Given the description of an element on the screen output the (x, y) to click on. 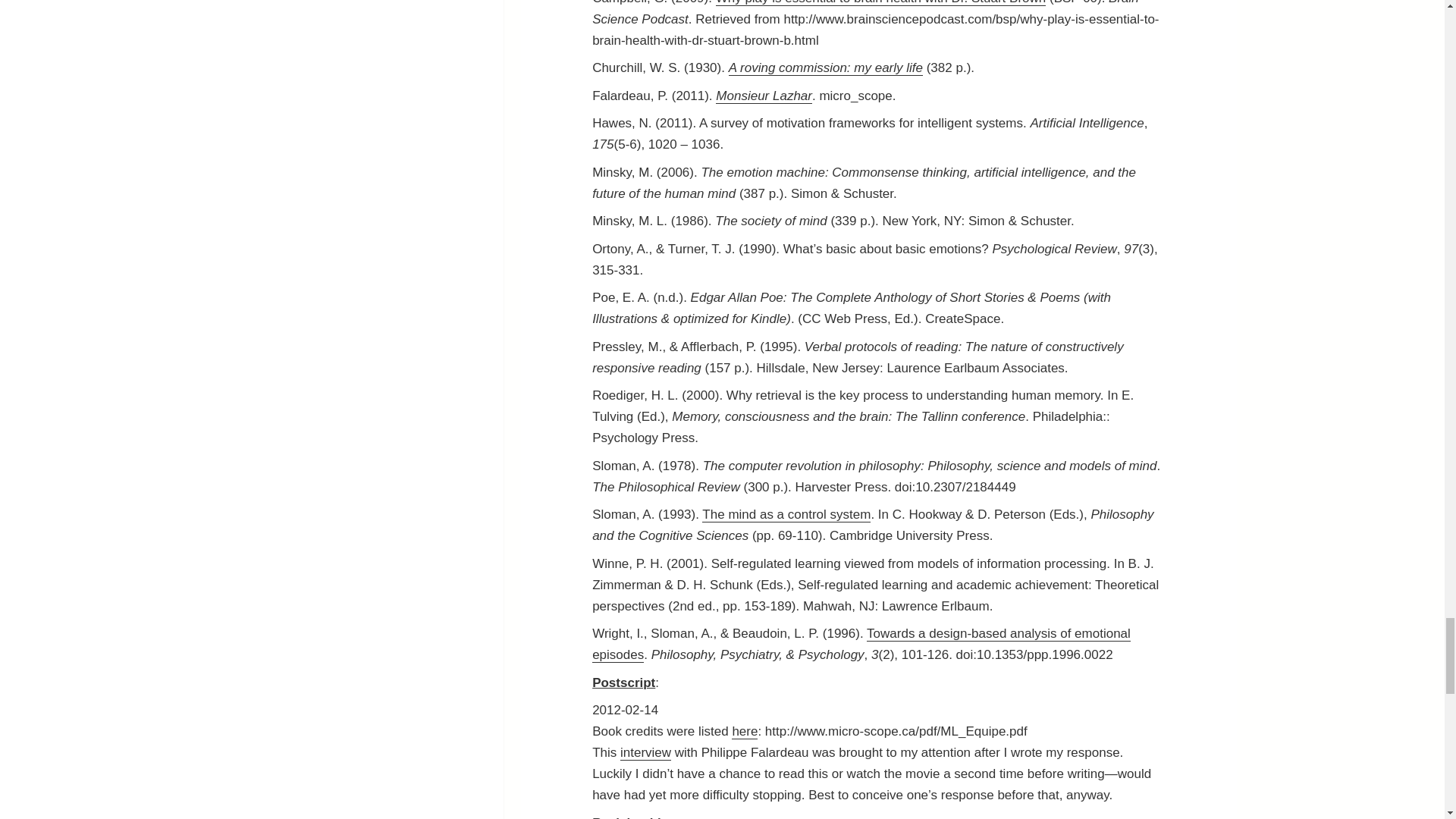
A roving commision (826, 68)
Monsieur Lazhar (764, 96)
THE MIND AS A CONTROL SYSTEM (785, 514)
Stuart Brown on Brain Science Podcast (881, 2)
